Given the description of an element on the screen output the (x, y) to click on. 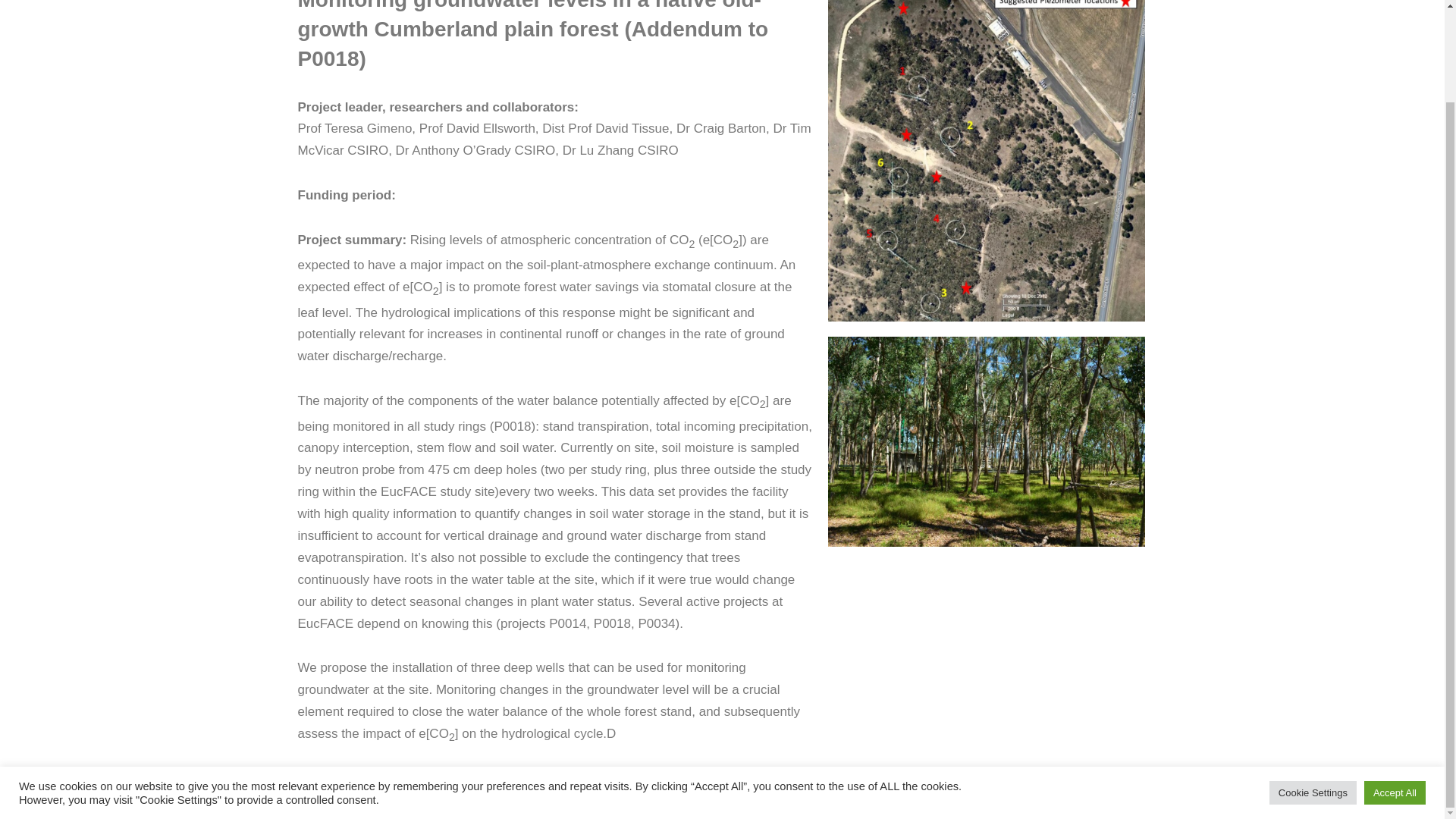
Neve (834, 798)
Cookie Settings (1312, 686)
WordPress (948, 798)
Accept All (1394, 686)
